Given the description of an element on the screen output the (x, y) to click on. 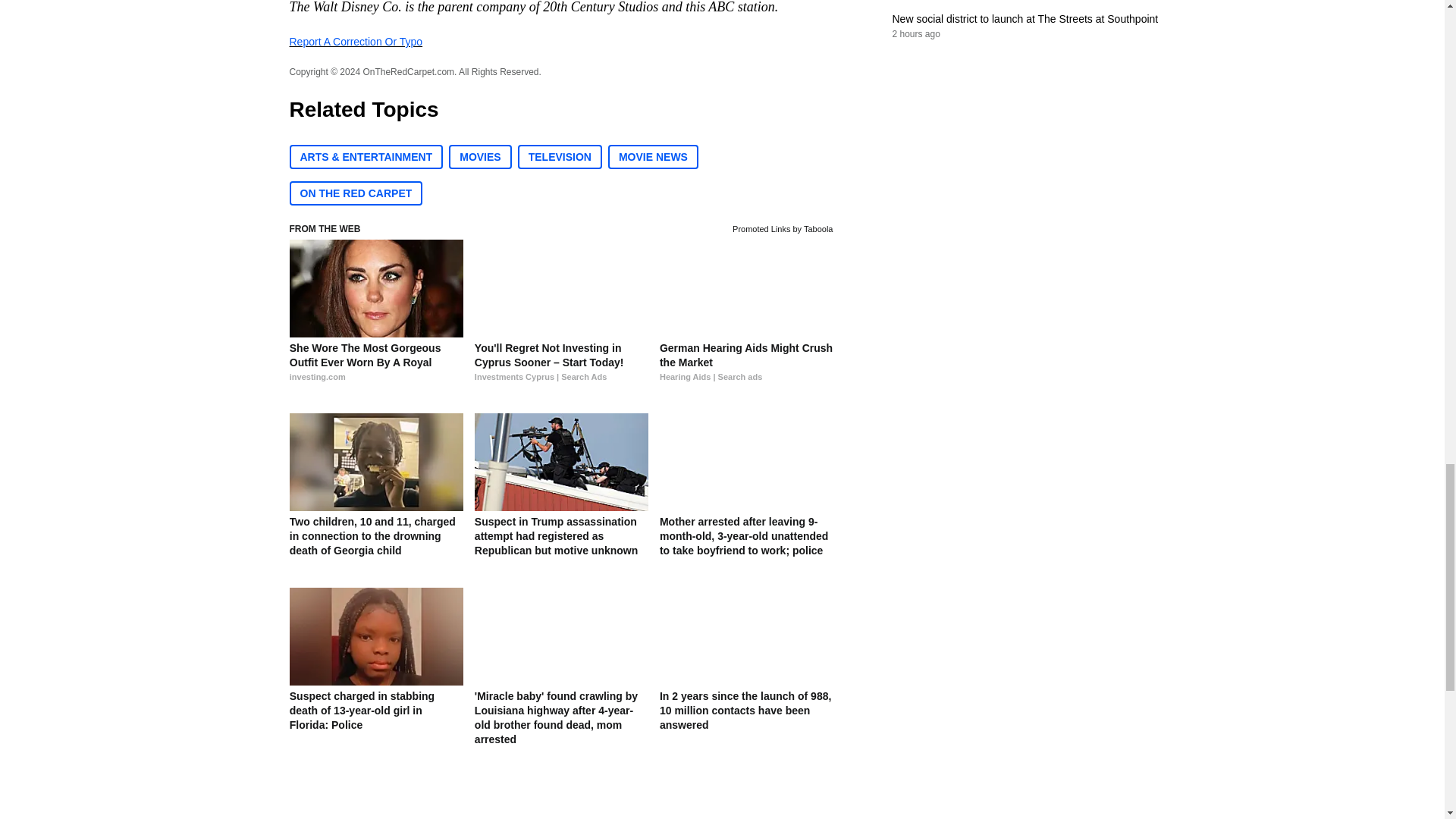
German Hearing Aids Might Crush the Market (745, 288)
She Wore The Most Gorgeous Outfit Ever Worn By A Royal (376, 288)
She Wore The Most Gorgeous Outfit Ever Worn By A Royal (376, 369)
German Hearing Aids Might Crush the Market (745, 369)
